Given the description of an element on the screen output the (x, y) to click on. 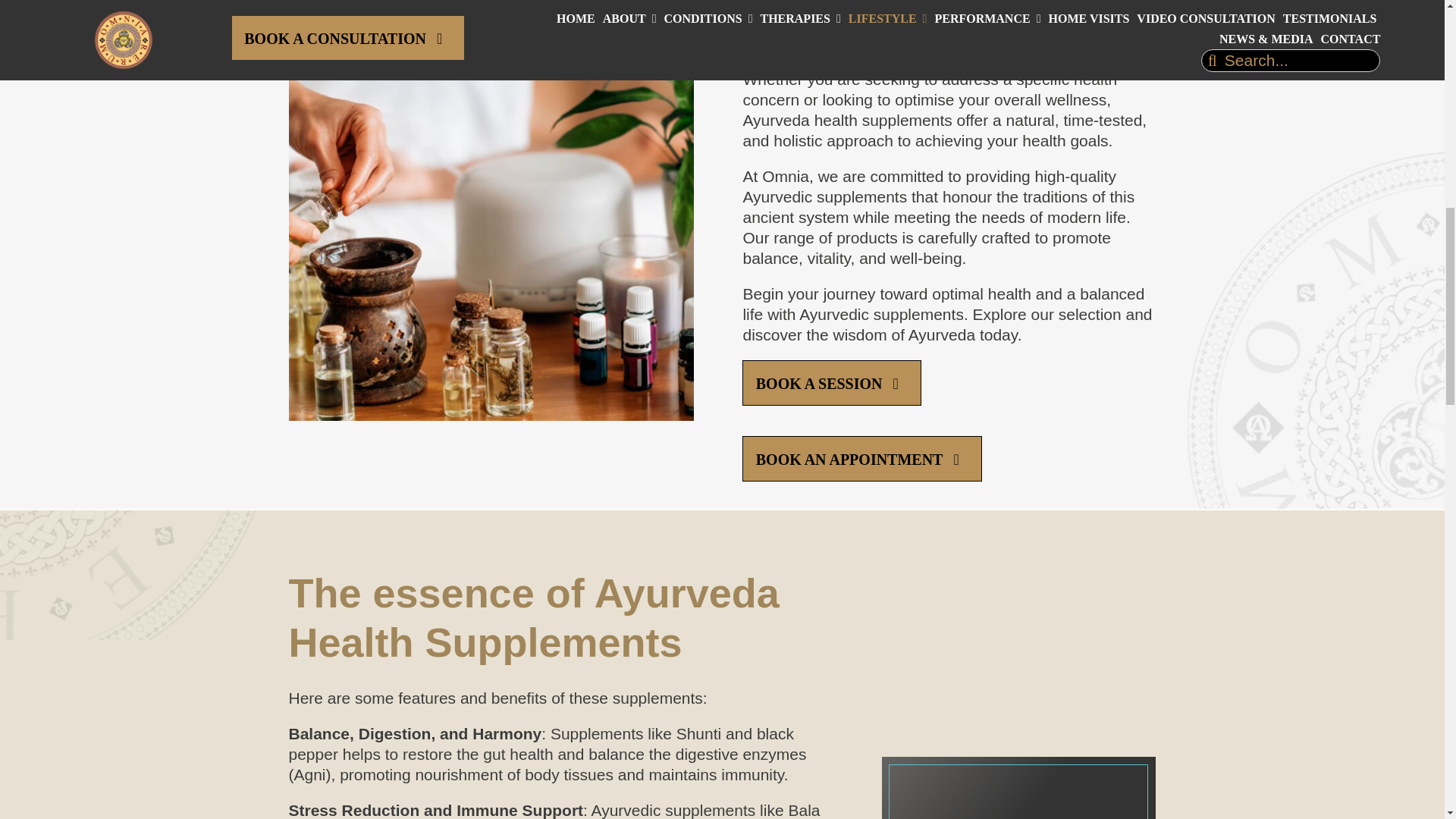
Omnia-lifestyle40b (1018, 807)
Book A Session (831, 382)
BOOK AN APPOINTMENT (861, 458)
